Given the description of an element on the screen output the (x, y) to click on. 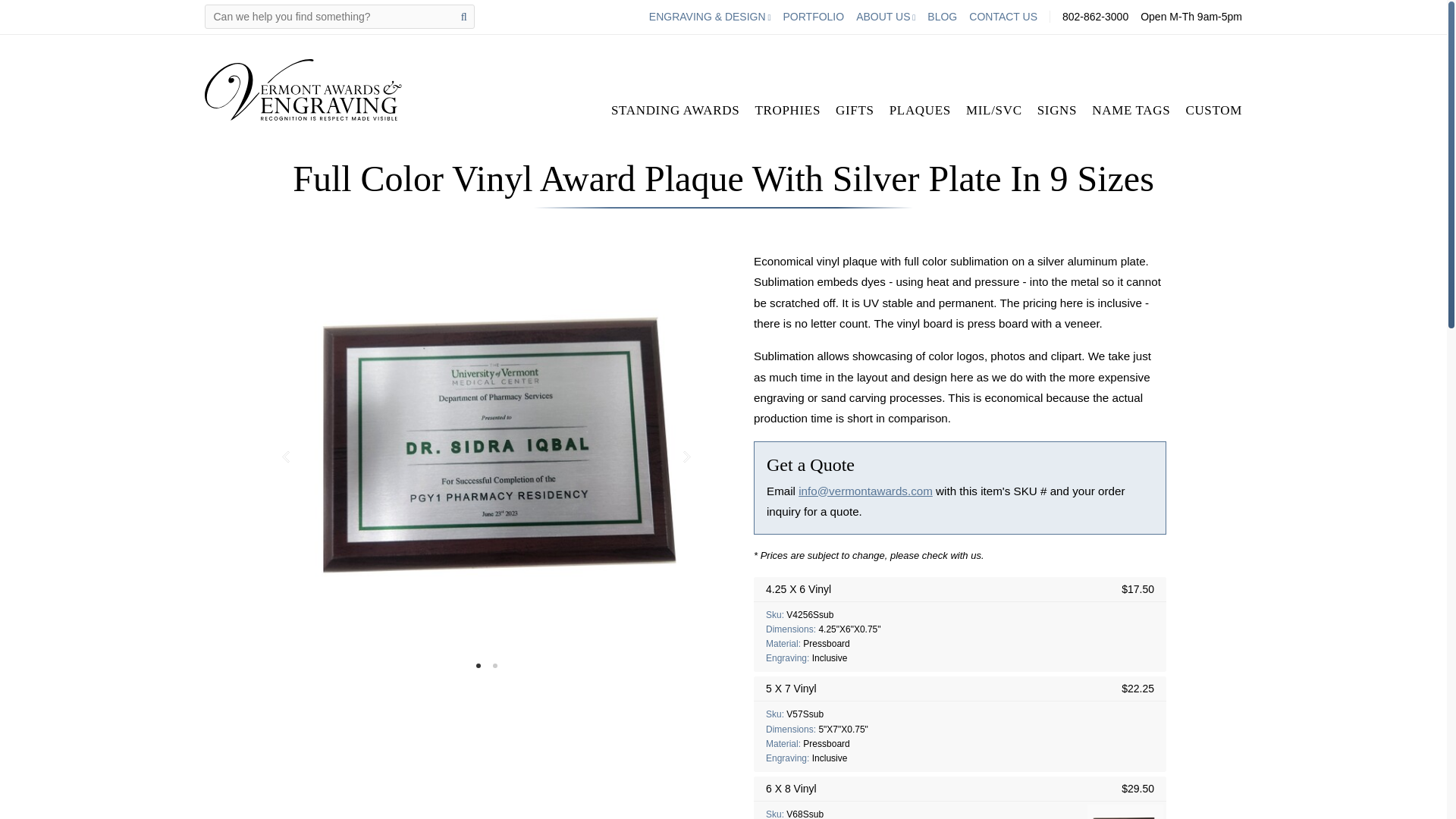
BLOG (941, 16)
PORTFOLIO (813, 16)
PLAQUES (919, 109)
CONTACT US (1002, 16)
TROPHIES (787, 109)
SIGNS (1056, 109)
STANDING AWARDS (675, 109)
GIFTS (855, 109)
CUSTOM (1213, 109)
NAME TAGS (1131, 109)
